Given the description of an element on the screen output the (x, y) to click on. 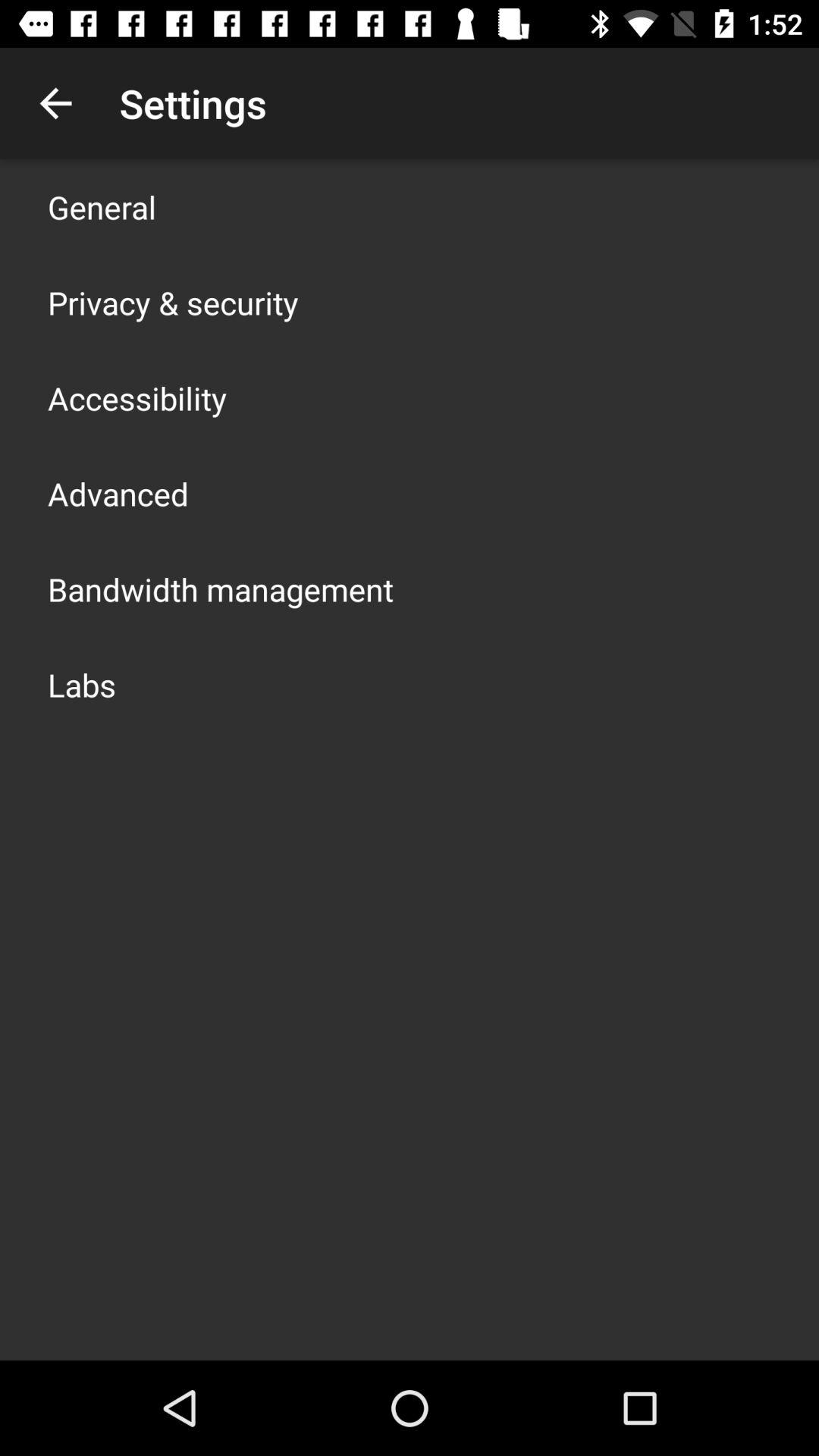
press the item above the accessibility (172, 302)
